Given the description of an element on the screen output the (x, y) to click on. 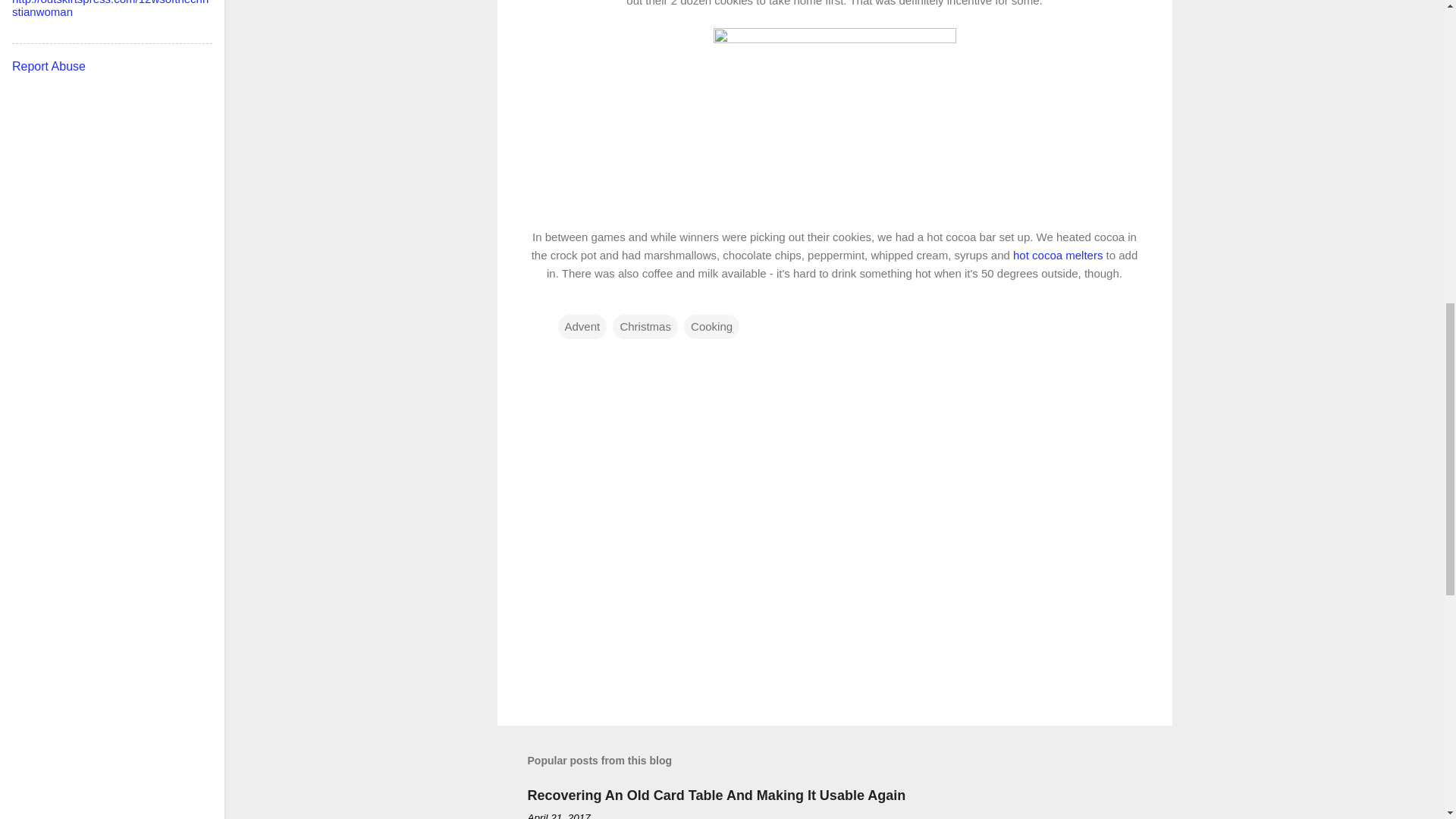
April 21, 2017 (559, 815)
Cooking (711, 325)
Advent (582, 325)
Recovering An Old Card Table And Making It Usable Again (716, 795)
Christmas (645, 325)
hot cocoa melters (1057, 254)
permanent link (559, 815)
